Given the description of an element on the screen output the (x, y) to click on. 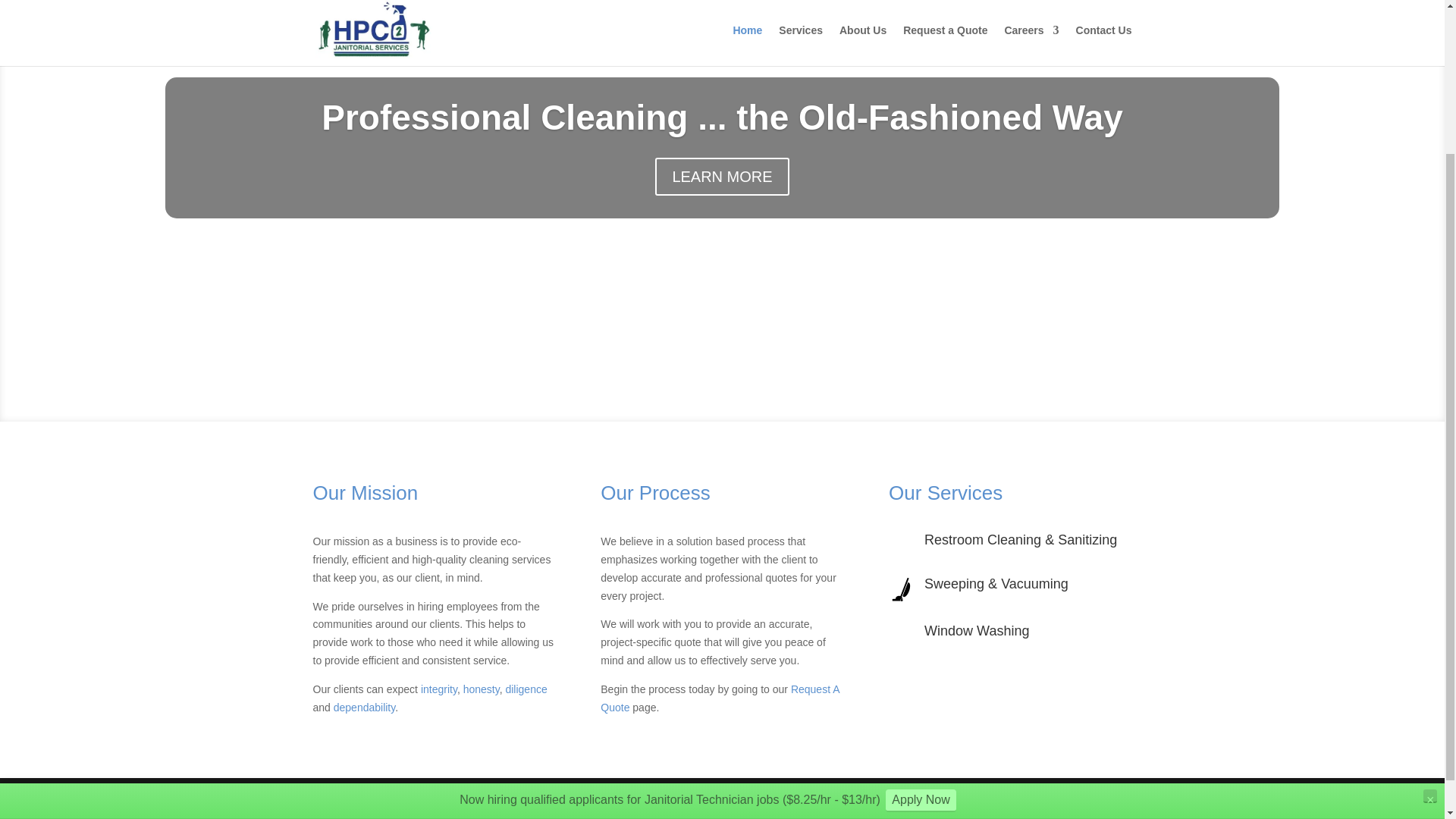
IX Publishing, Inc. (728, 797)
Our Services (945, 492)
Website design and hosting (594, 797)
Request A Quote (718, 698)
Apply Now (920, 613)
VIEW ALL SERVICES (1010, 686)
Close Bar (1430, 609)
Our Mission (365, 492)
